Given the description of an element on the screen output the (x, y) to click on. 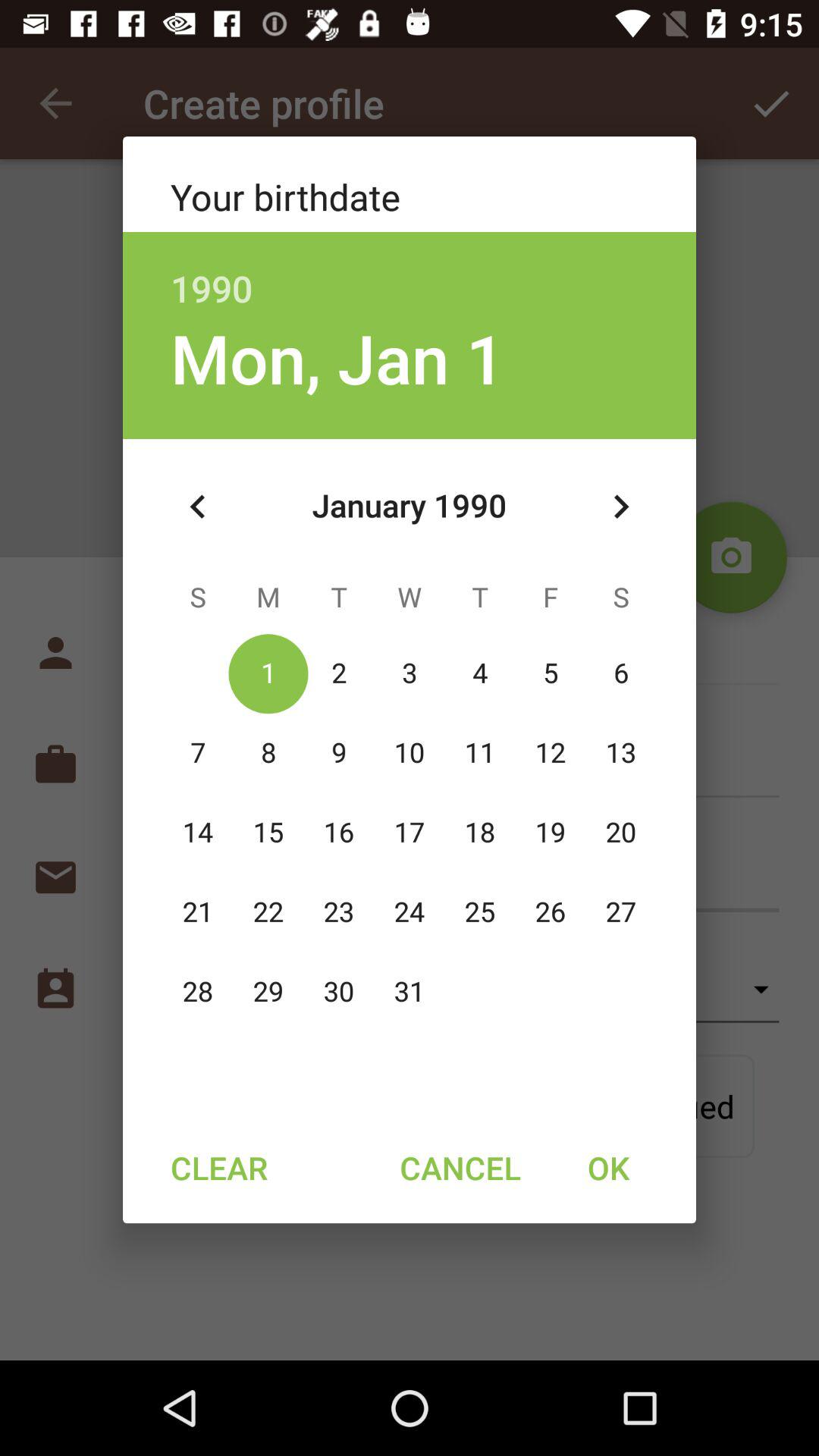
scroll to mon, jan 1 (337, 357)
